Given the description of an element on the screen output the (x, y) to click on. 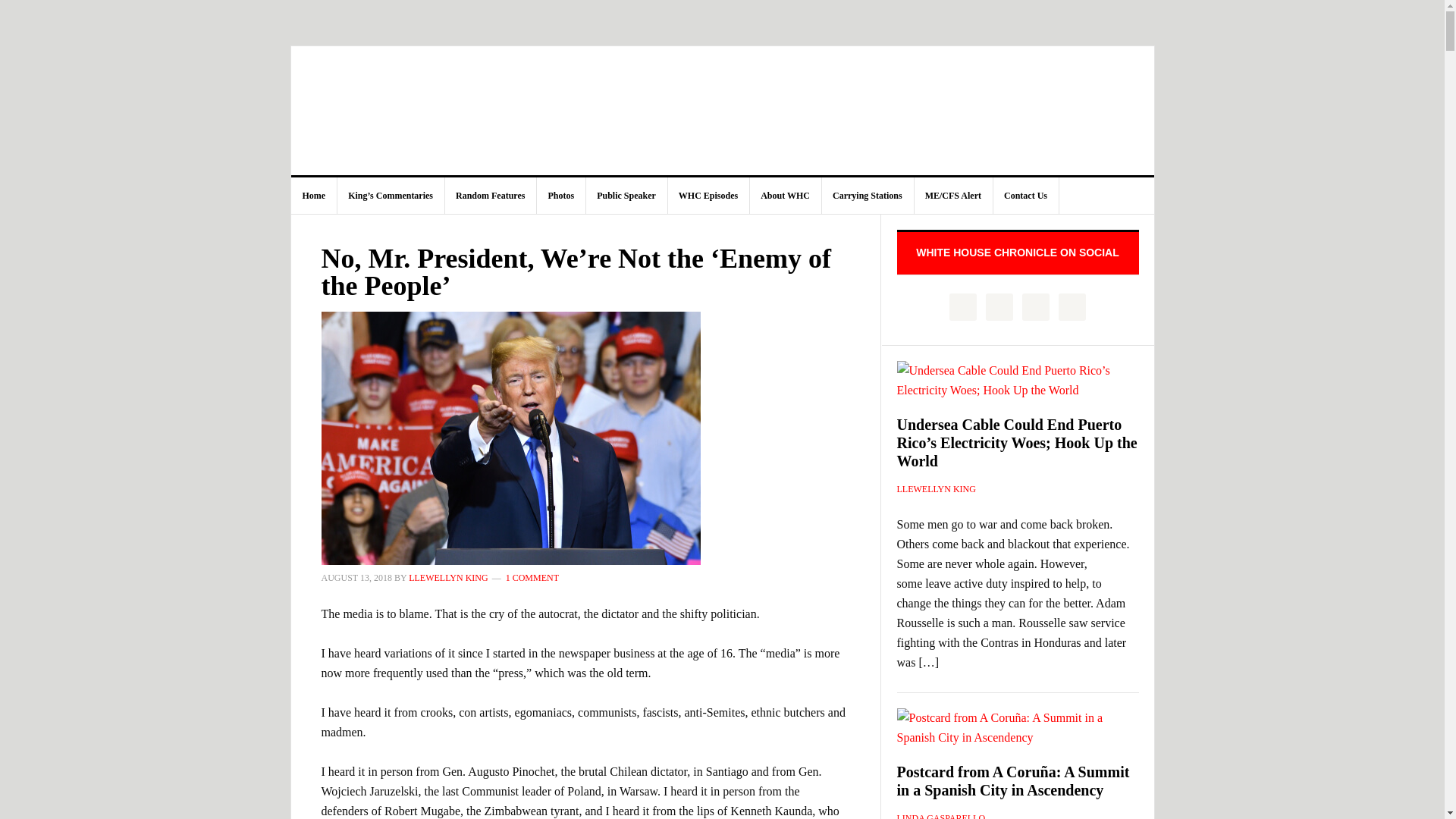
About WHC (785, 195)
WHITE HOUSE CHRONICLE (722, 110)
Photos (560, 195)
Contact Us (1025, 195)
1 COMMENT (532, 577)
Home (314, 195)
Public Speaker (626, 195)
LLEWELLYN KING (448, 577)
Random Features (490, 195)
WHC Episodes (707, 195)
